Given the description of an element on the screen output the (x, y) to click on. 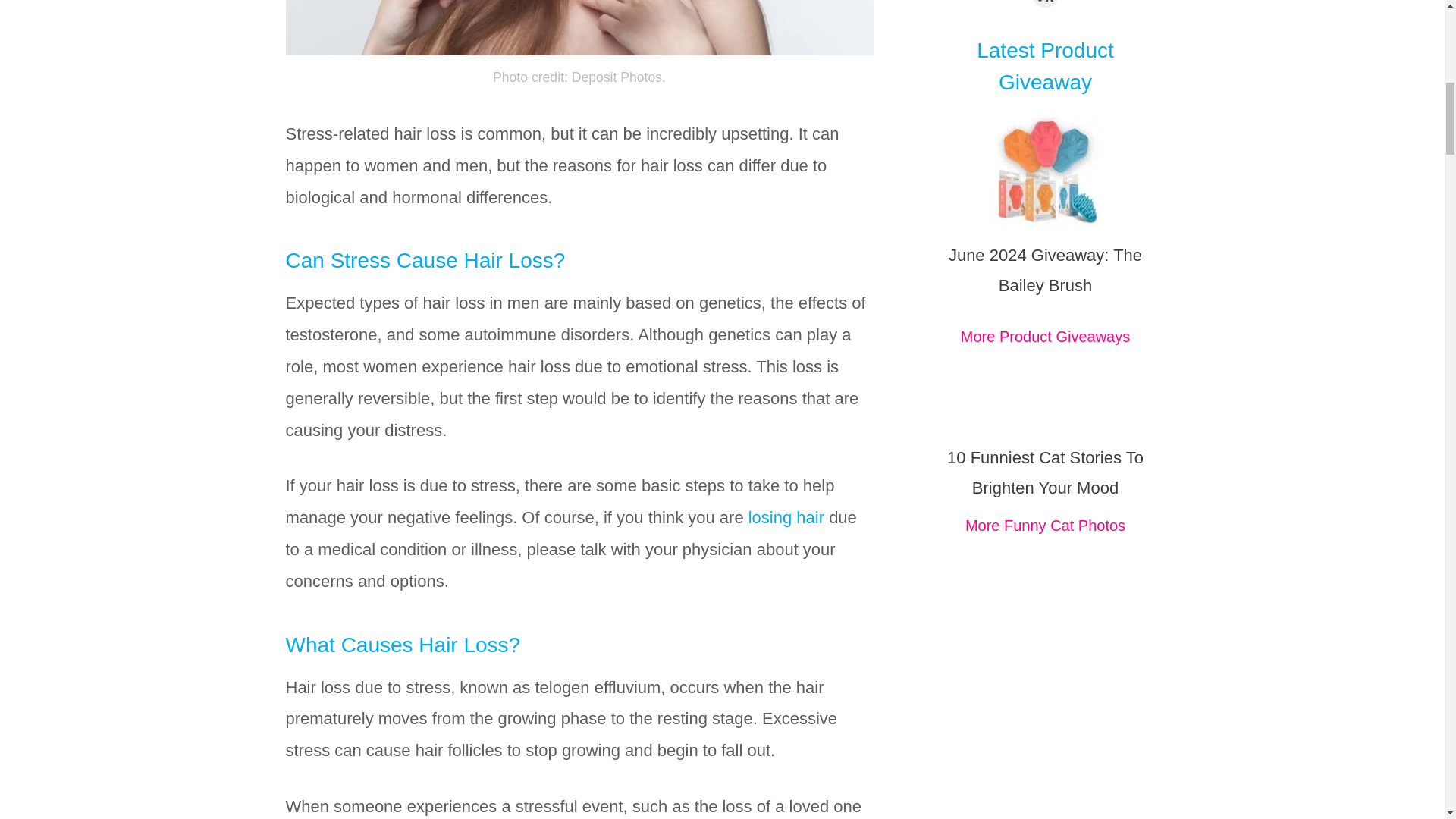
losing hair (786, 517)
